Given the description of an element on the screen output the (x, y) to click on. 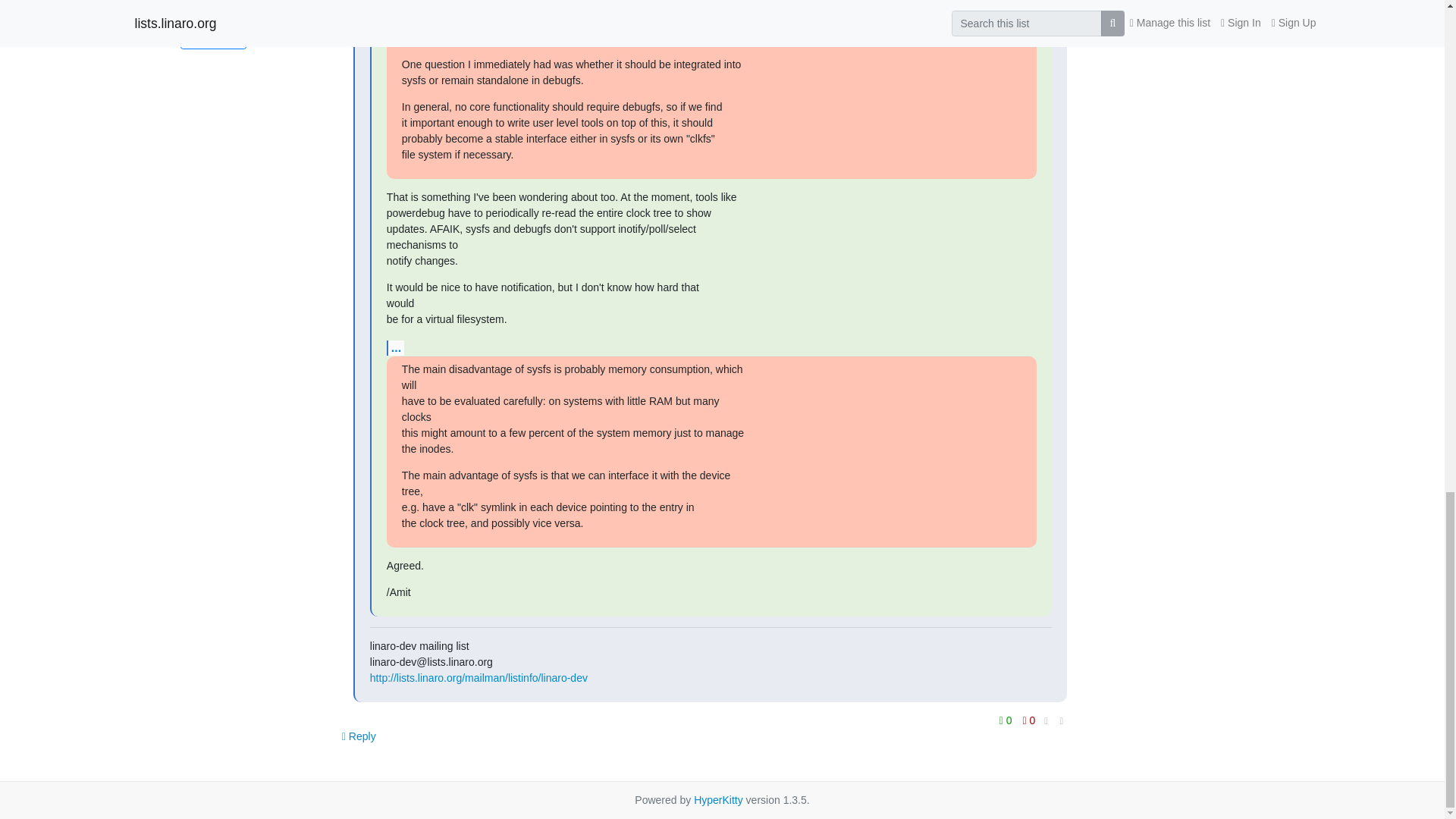
You must be logged-in to vote. (1029, 720)
This message in gzipped mbox format (213, 35)
Sign in to reply online (359, 736)
You must be logged-in to vote. (1007, 720)
